Given the description of an element on the screen output the (x, y) to click on. 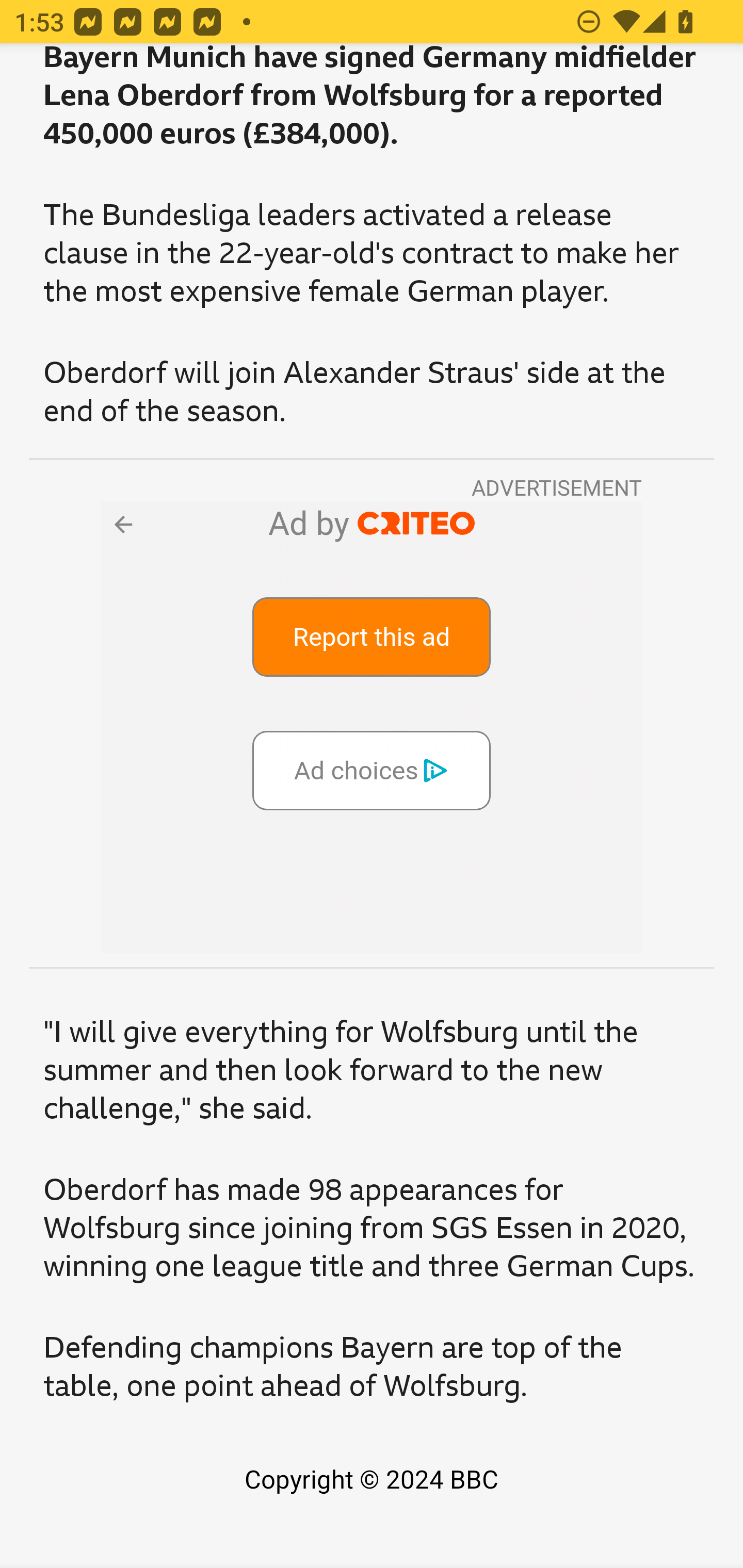
Report this ad (371, 636)
Ad choices Ad choices privacy (371, 769)
